Given the description of an element on the screen output the (x, y) to click on. 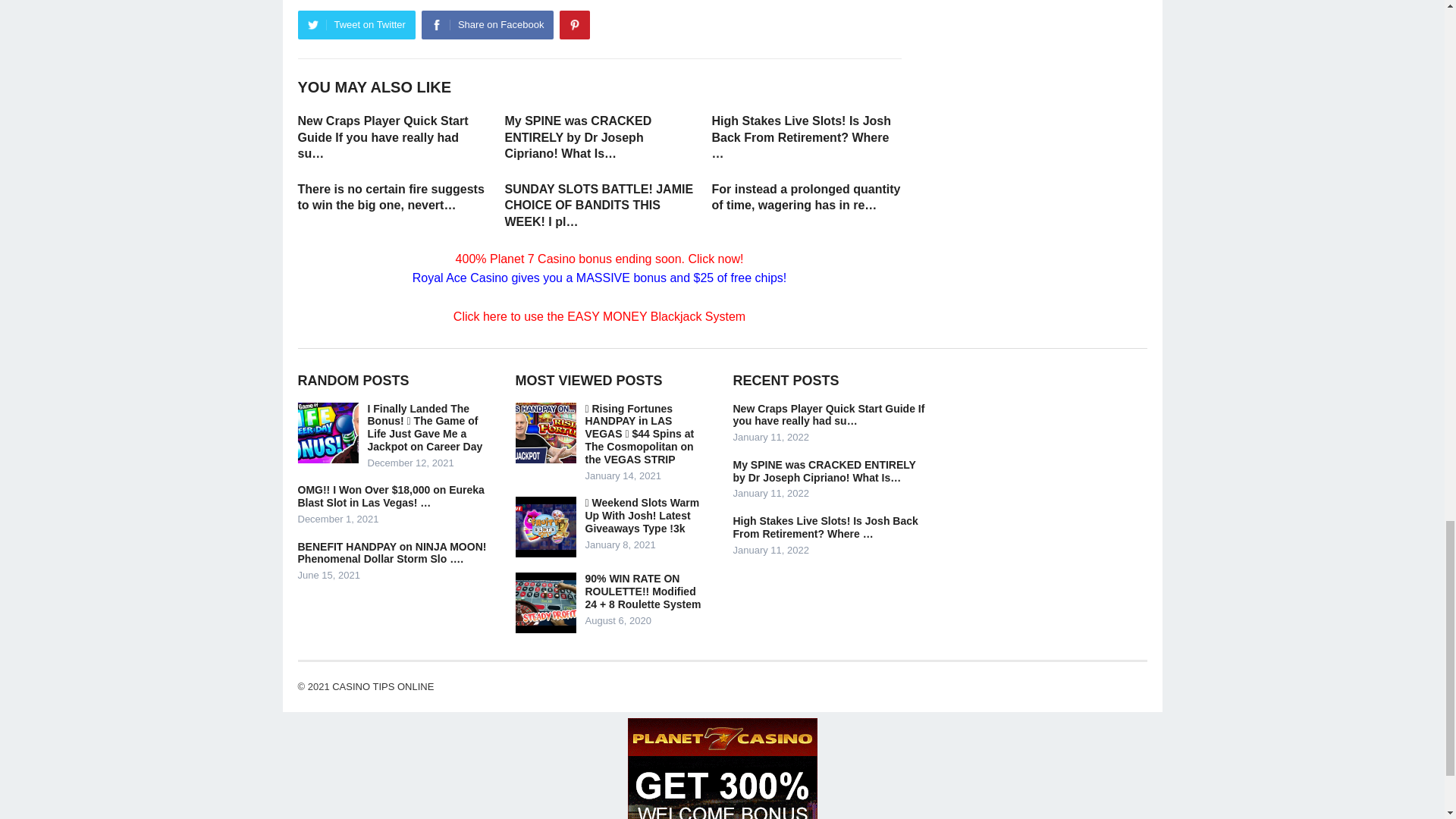
Pinterest (574, 24)
Tweet on Twitter (355, 24)
Click here to use the EASY MONEY Blackjack System (598, 316)
Share on Facebook (487, 24)
